Given the description of an element on the screen output the (x, y) to click on. 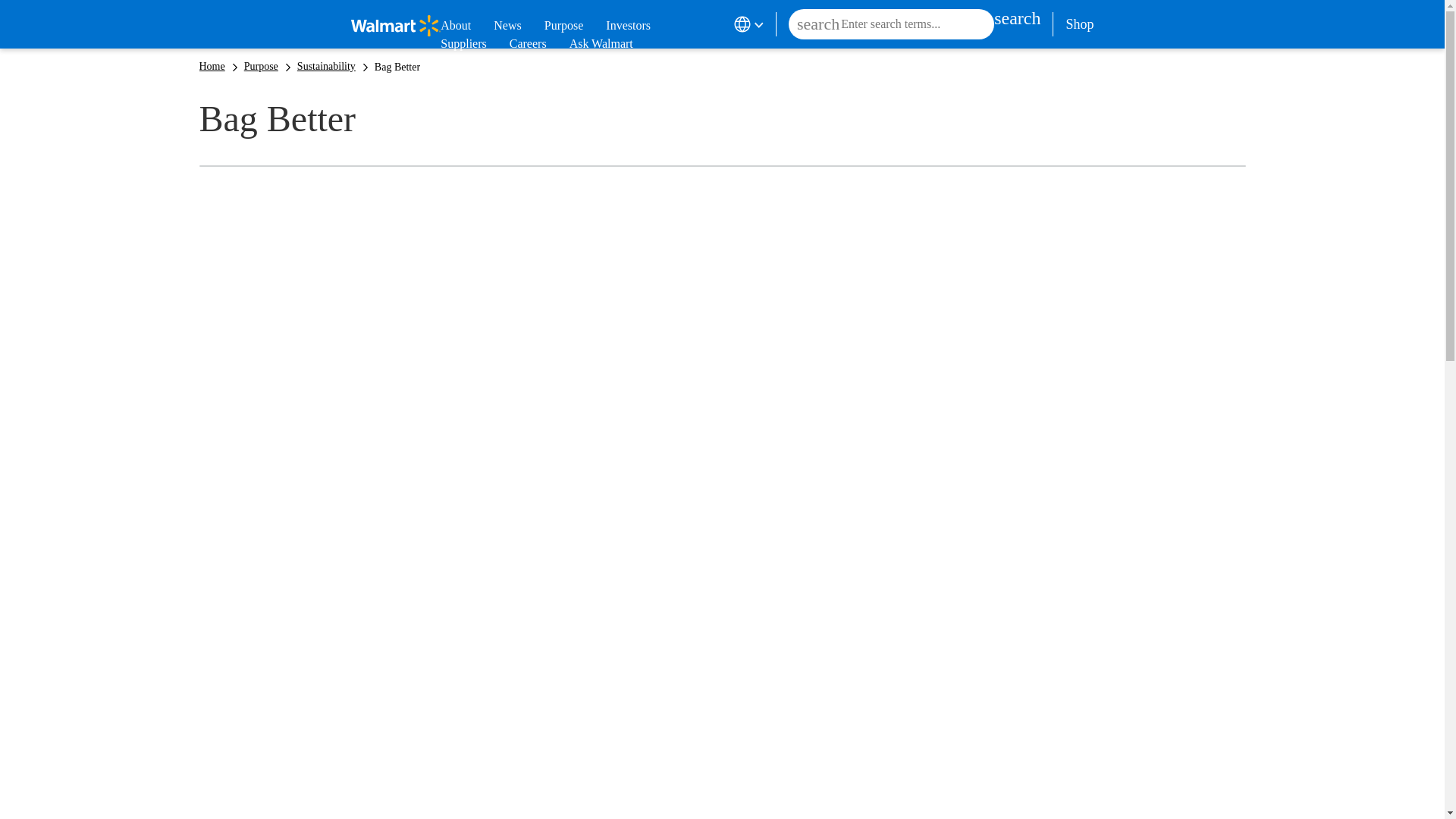
Purpose (563, 25)
About (455, 25)
Investors (627, 25)
News (507, 25)
Suppliers (463, 44)
